Given the description of an element on the screen output the (x, y) to click on. 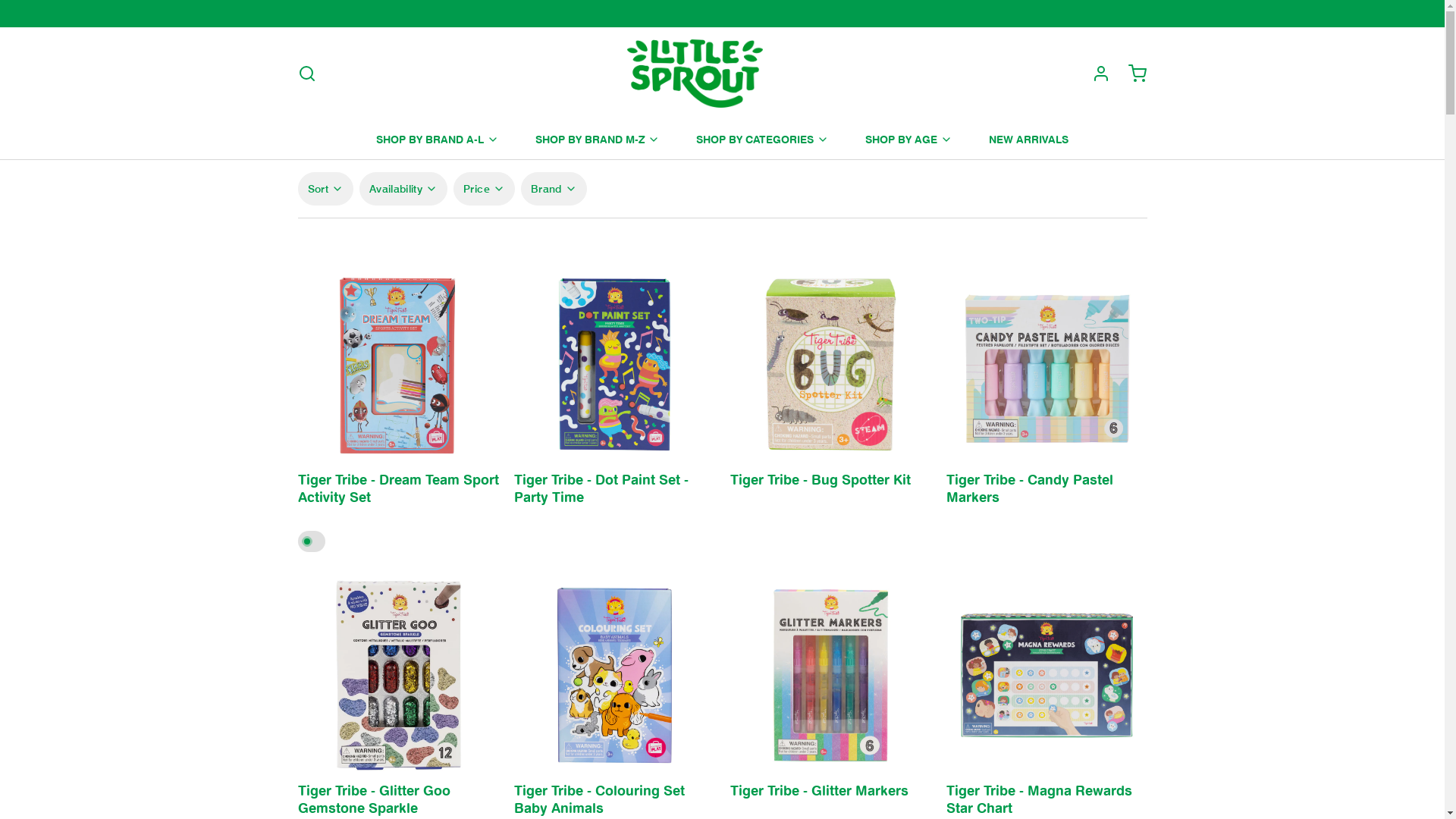
SHOP BY CATEGORIES Element type: text (762, 139)
Tiger Tribe - Candy Pastel Markers
$12.95 Element type: text (1046, 496)
NEW ARRIVALS Element type: text (1028, 139)
Brand Element type: text (553, 188)
Sort Element type: text (324, 188)
Search Element type: hover (306, 73)
Tiger Tribe - Dot Paint Set - Party Time
$29.95 Element type: text (614, 496)
SHOP BY BRAND A-L Element type: text (437, 139)
Cart Element type: hover (1131, 73)
SHOP BY BRAND M-Z Element type: text (597, 139)
SHOP BY AGE Element type: text (908, 139)
Price Element type: text (483, 188)
Tiger Tribe - Bug Spotter Kit
$12.95 Element type: text (829, 488)
Little Sprout - Read Play Learn Element type: hover (694, 73)
Availability Element type: text (403, 188)
 Log in Element type: hover (1094, 73)
Tiger Tribe - Glitter Markers
$19.95 Element type: text (829, 799)
